Given the description of an element on the screen output the (x, y) to click on. 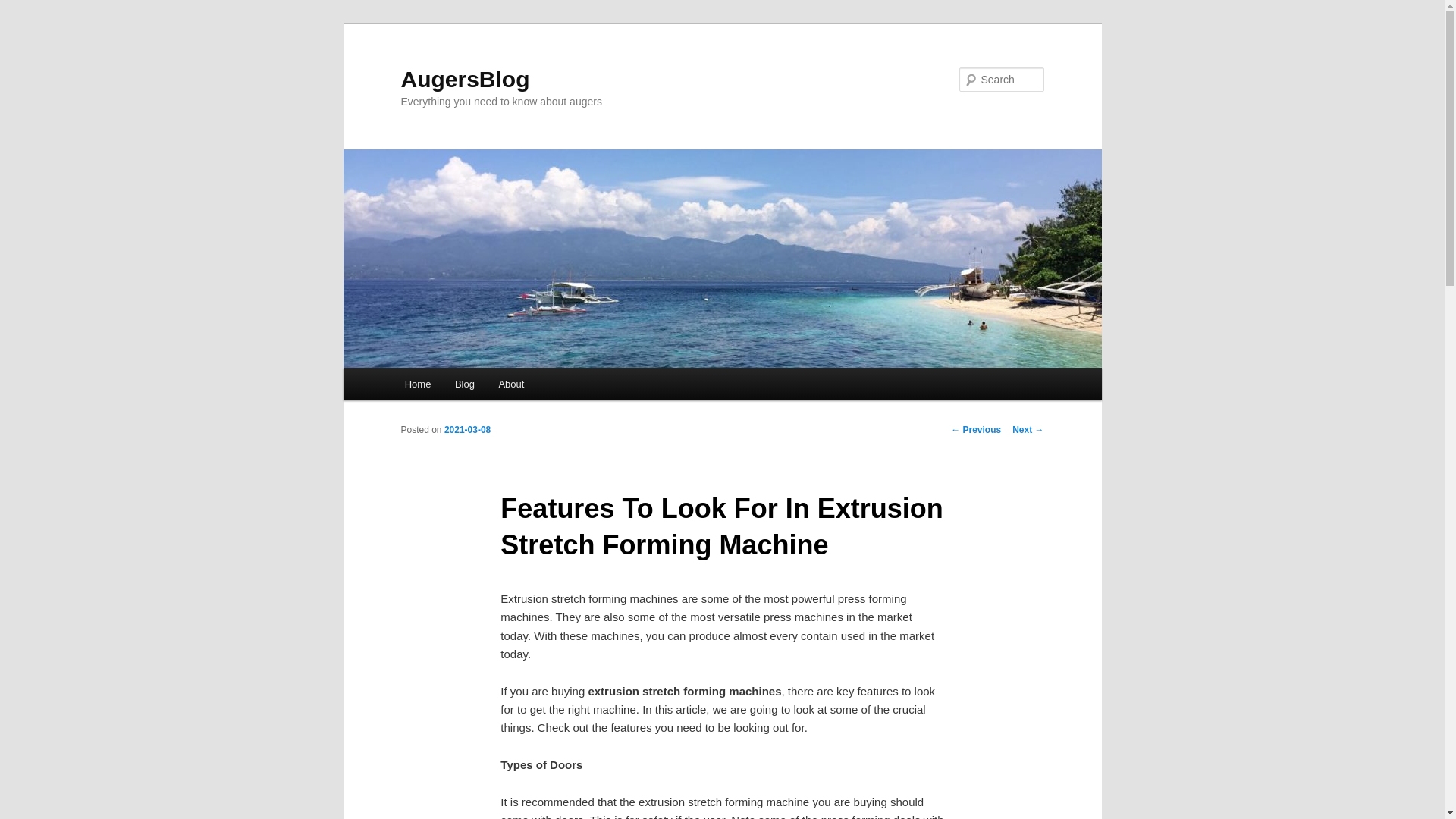
Blog (464, 383)
Home (417, 383)
Search (24, 8)
pm1:47 (467, 429)
About (510, 383)
AugersBlog (464, 78)
2021-03-08 (467, 429)
